Given the description of an element on the screen output the (x, y) to click on. 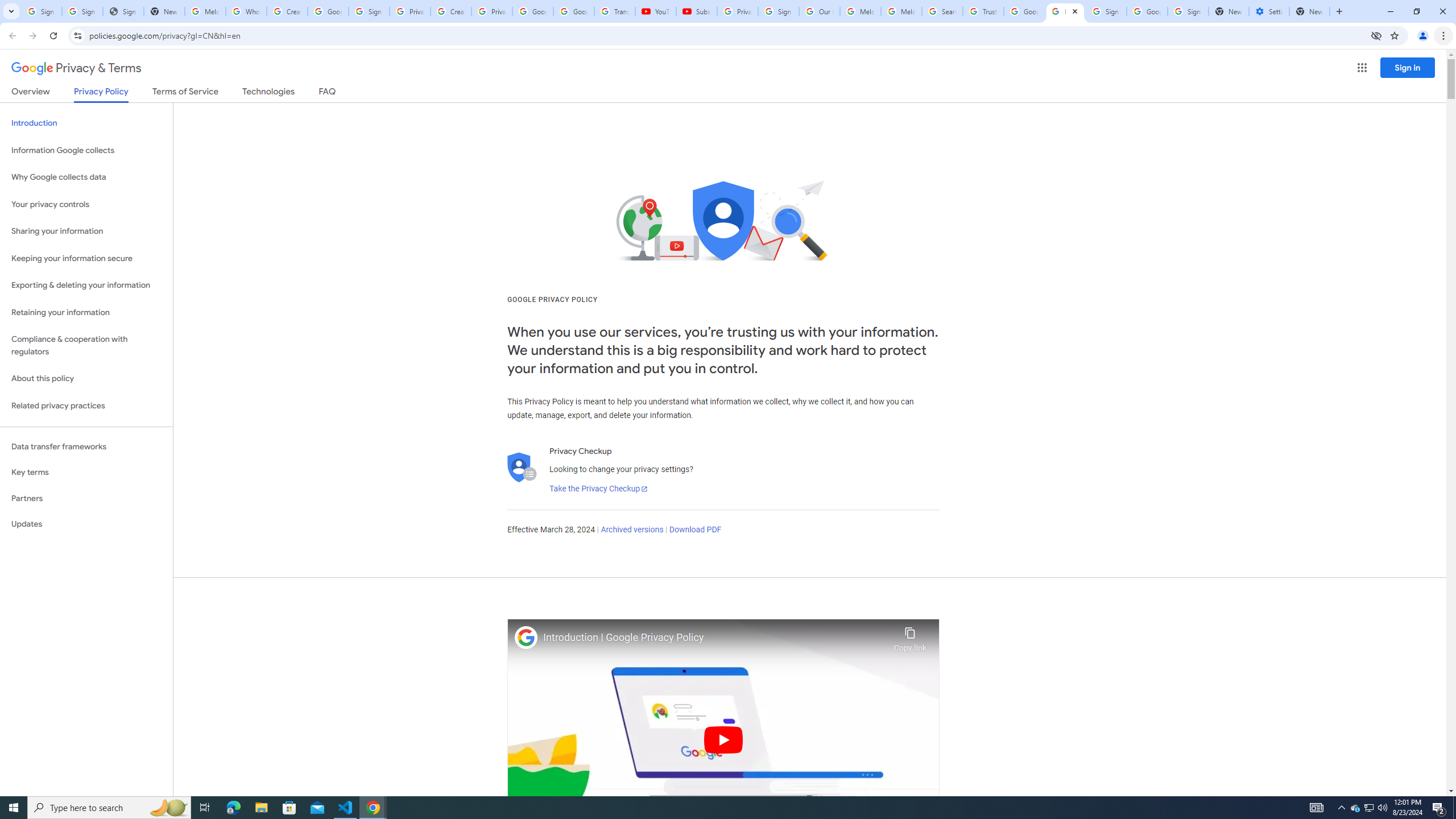
Take the Privacy Checkup (597, 488)
Play (723, 739)
Sign in - Google Accounts (1187, 11)
Trusted Information and Content - Google Safety Center (983, 11)
Subscriptions - YouTube (696, 11)
